Given the description of an element on the screen output the (x, y) to click on. 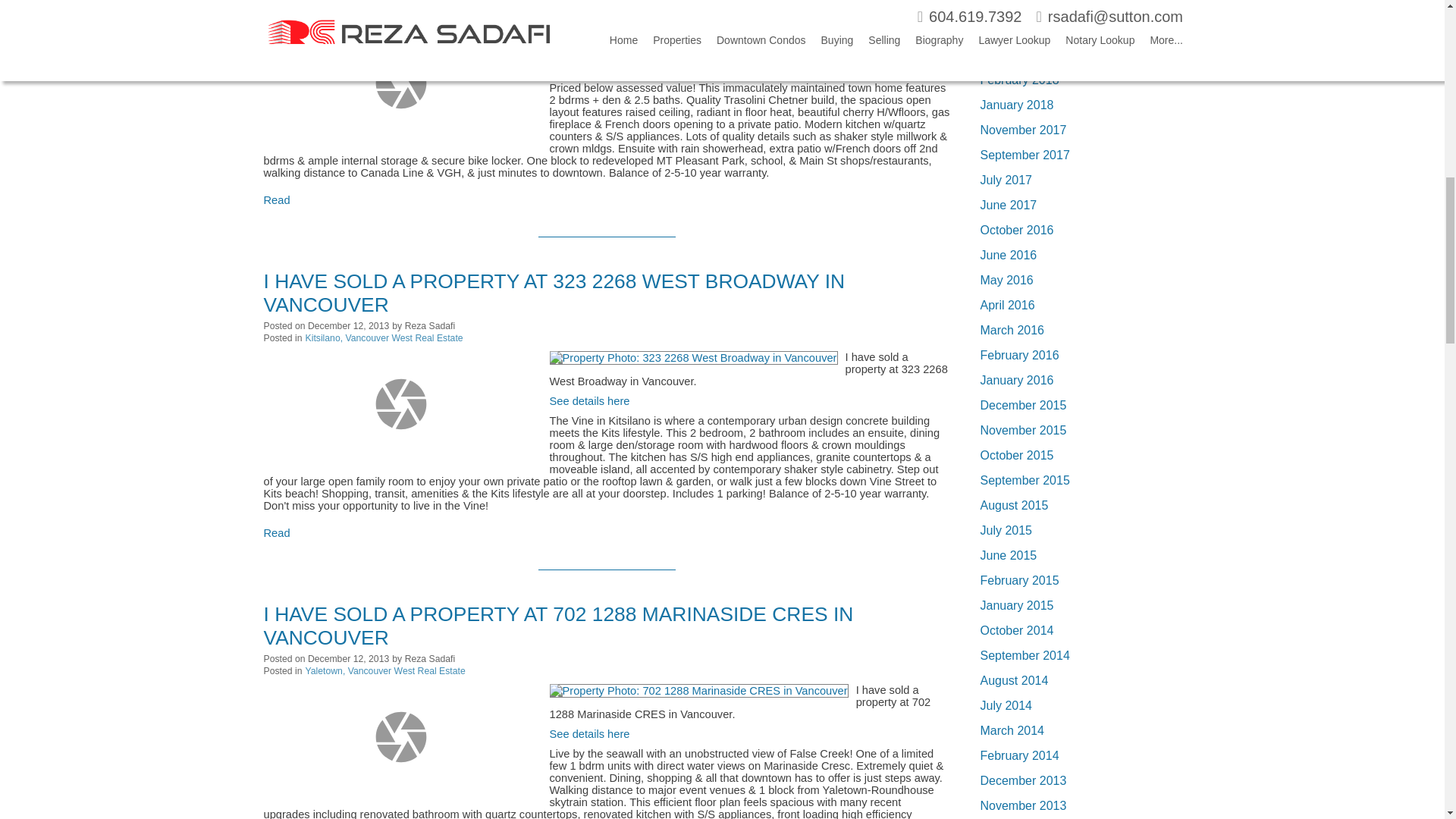
Read full post (400, 404)
Read full post (400, 83)
Read full post (400, 736)
